Given the description of an element on the screen output the (x, y) to click on. 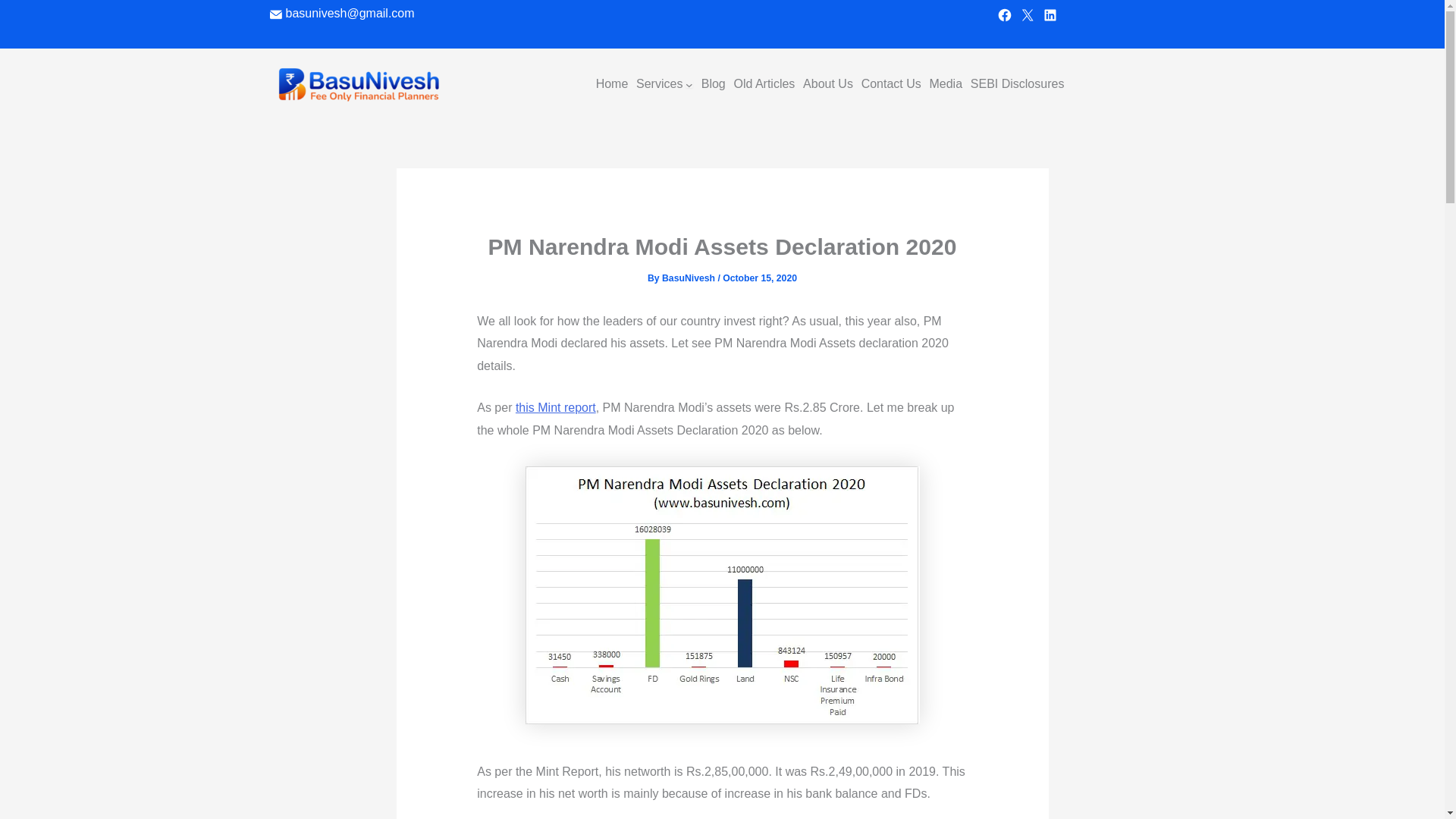
BasuNivesh-Logo-e1716643560372 (358, 83)
Facebook (1003, 14)
Old Articles (763, 83)
About Us (828, 83)
Blog (713, 83)
Contact Us (891, 83)
X (1026, 14)
View all posts by BasuNivesh (689, 277)
SEBI Disclosures (1017, 83)
LinkedIn (1049, 14)
Home (611, 83)
Services (659, 83)
Media (945, 83)
BasuNivesh (689, 277)
this Mint report (555, 407)
